Given the description of an element on the screen output the (x, y) to click on. 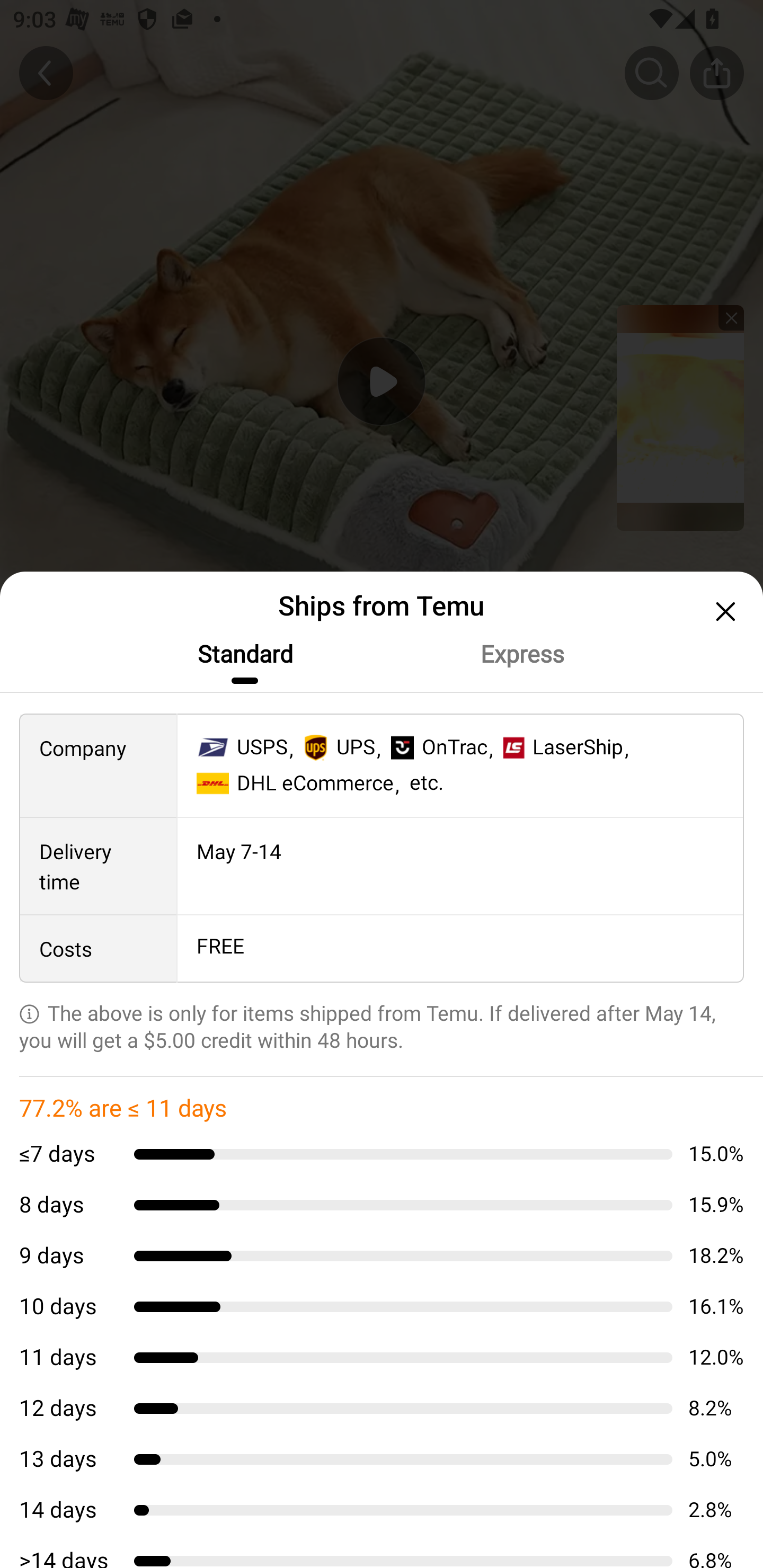
close (723, 611)
Standard (244, 653)
Express (521, 653)
￼ ￼ ￼ 4 interest-free biweekly installments (381, 1009)
￼ ￼ ￼ 4 interest-free biweekly installments (257, 1014)
Add to cart ￼￼Only 1 left (381, 1513)
